Given the description of an element on the screen output the (x, y) to click on. 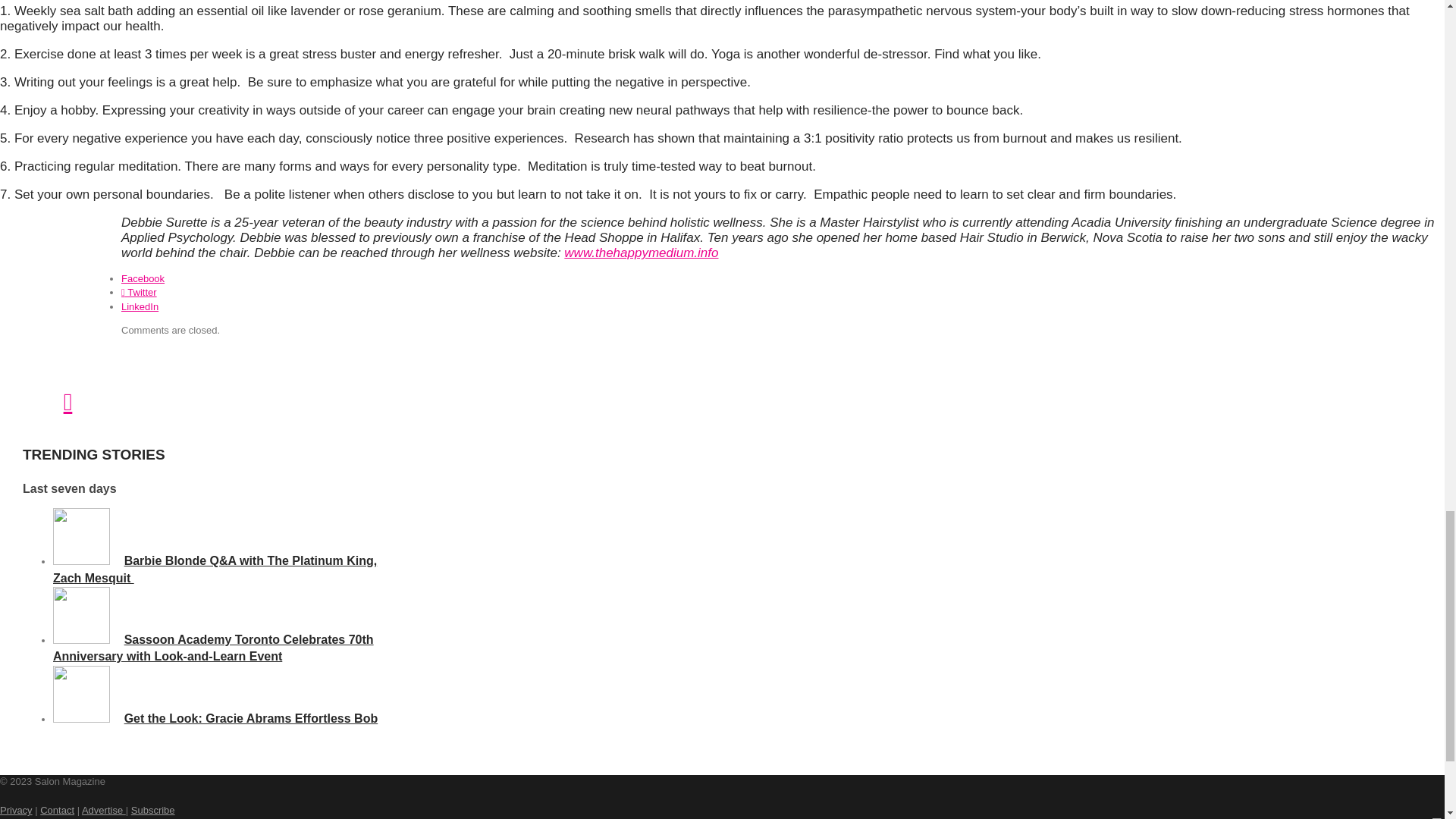
Share via Twitter (138, 292)
Share via LinkedIn (139, 306)
Share via Facebook (142, 278)
